Given the description of an element on the screen output the (x, y) to click on. 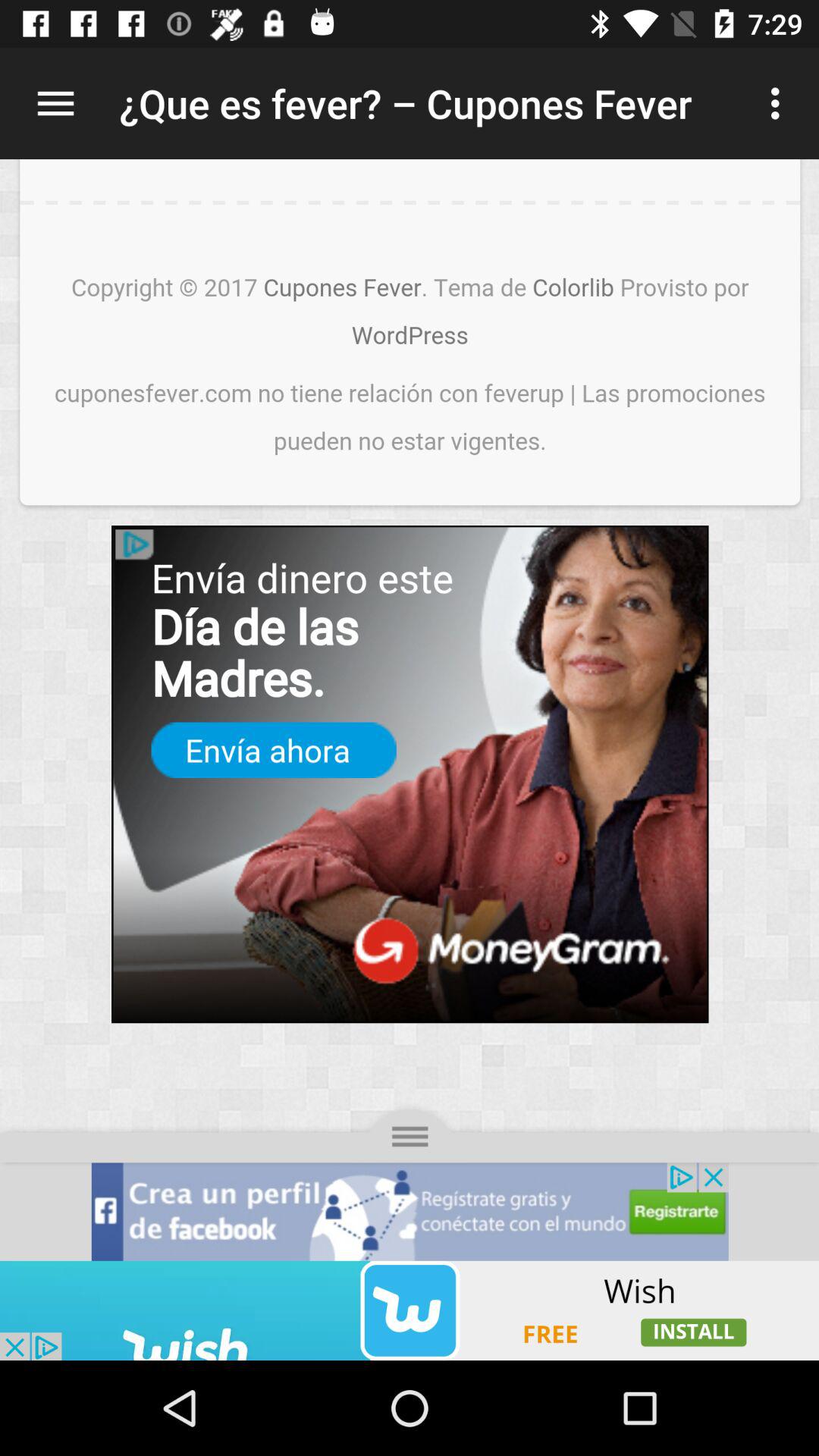
go to moneygram page (409, 709)
